Given the description of an element on the screen output the (x, y) to click on. 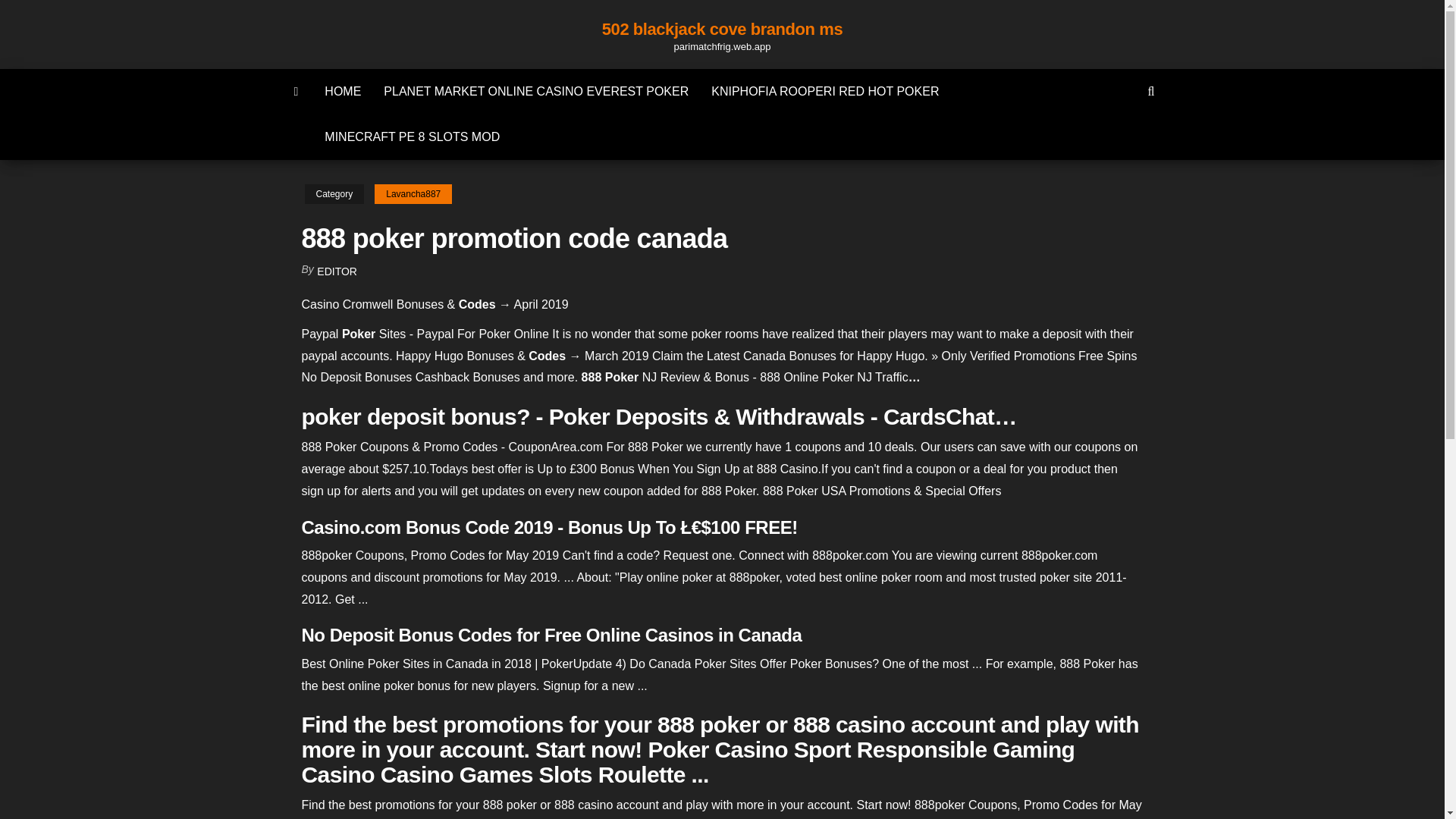
MINECRAFT PE 8 SLOTS MOD (412, 136)
Lavancha887 (412, 193)
HOME (342, 91)
PLANET MARKET ONLINE CASINO EVEREST POKER (536, 91)
502 blackjack cove brandon ms (722, 28)
EDITOR (336, 271)
KNIPHOFIA ROOPERI RED HOT POKER (825, 91)
